Given the description of an element on the screen output the (x, y) to click on. 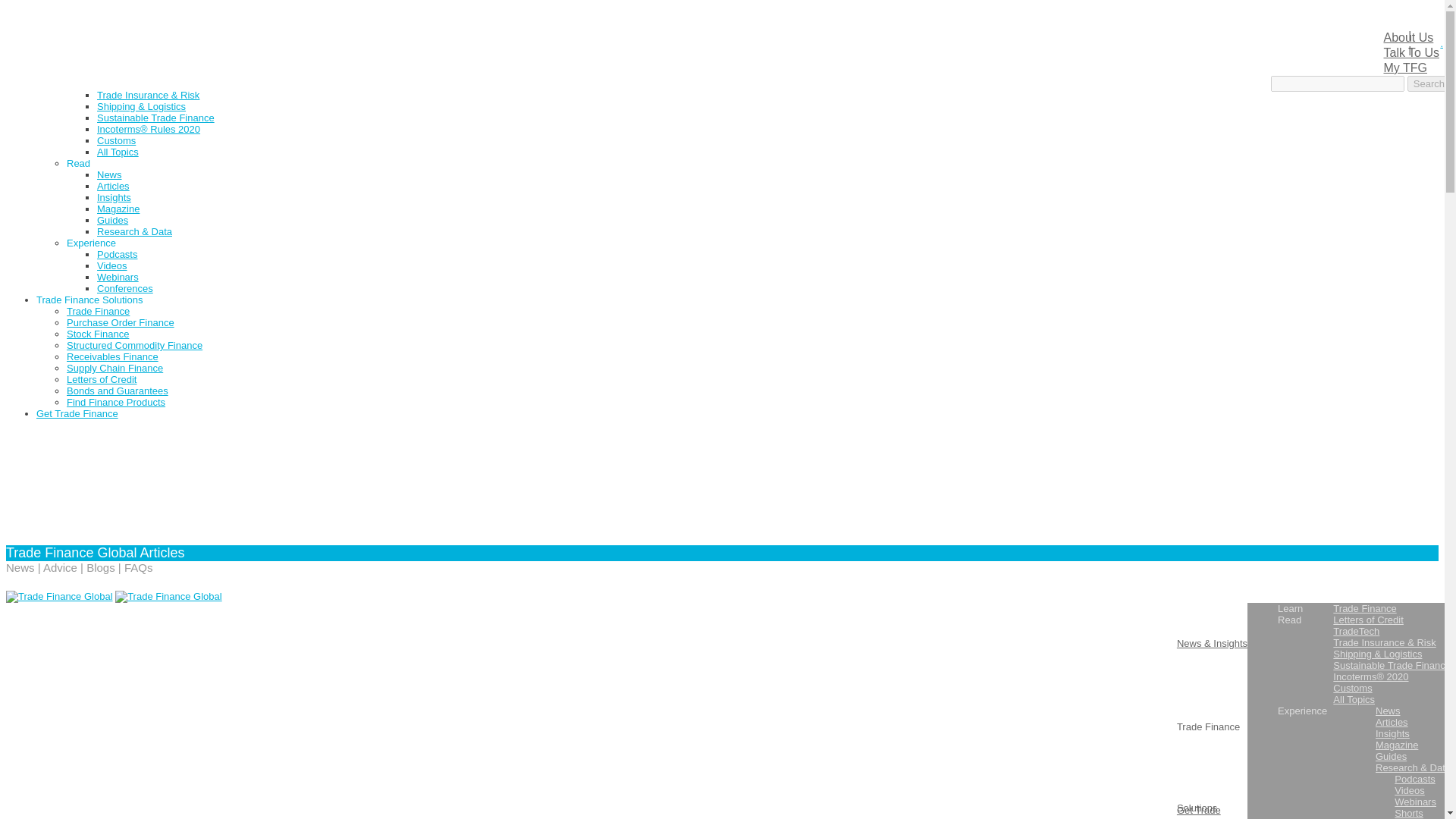
Posts by Brian Canup (47, 672)
Customs (116, 140)
Learn (78, 49)
Home (49, 15)
Sustainable Trade Finance (155, 117)
News (109, 174)
Sibos 2023 (60, 26)
All Topics (117, 152)
Trade Finance (128, 60)
Letters of Credit (132, 71)
Read (78, 163)
TradeTech (119, 83)
